Given the description of an element on the screen output the (x, y) to click on. 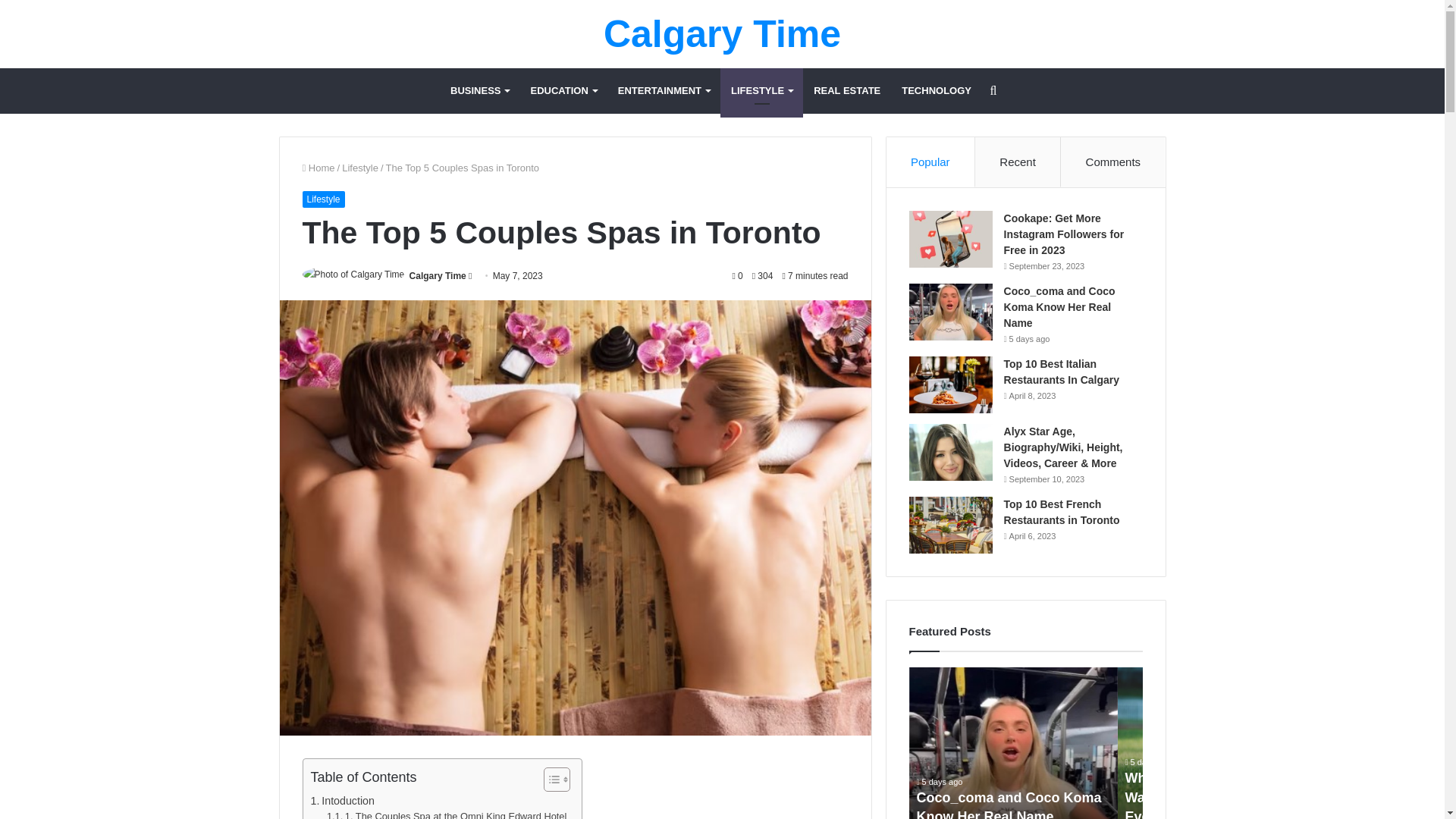
BUSINESS (479, 90)
Lifestyle (322, 199)
1. The Couples Spa at the Omni King Edward Hotel (446, 814)
1. The Couples Spa at the Omni King Edward Hotel (446, 814)
ENTERTAINMENT (663, 90)
Calgary Time (437, 276)
Intoduction (342, 800)
Calgary Time (722, 34)
TECHNOLOGY (936, 90)
LIFESTYLE (761, 90)
EDUCATION (563, 90)
REAL ESTATE (847, 90)
Home (317, 167)
Calgary Time (722, 34)
Calgary Time (437, 276)
